Given the description of an element on the screen output the (x, y) to click on. 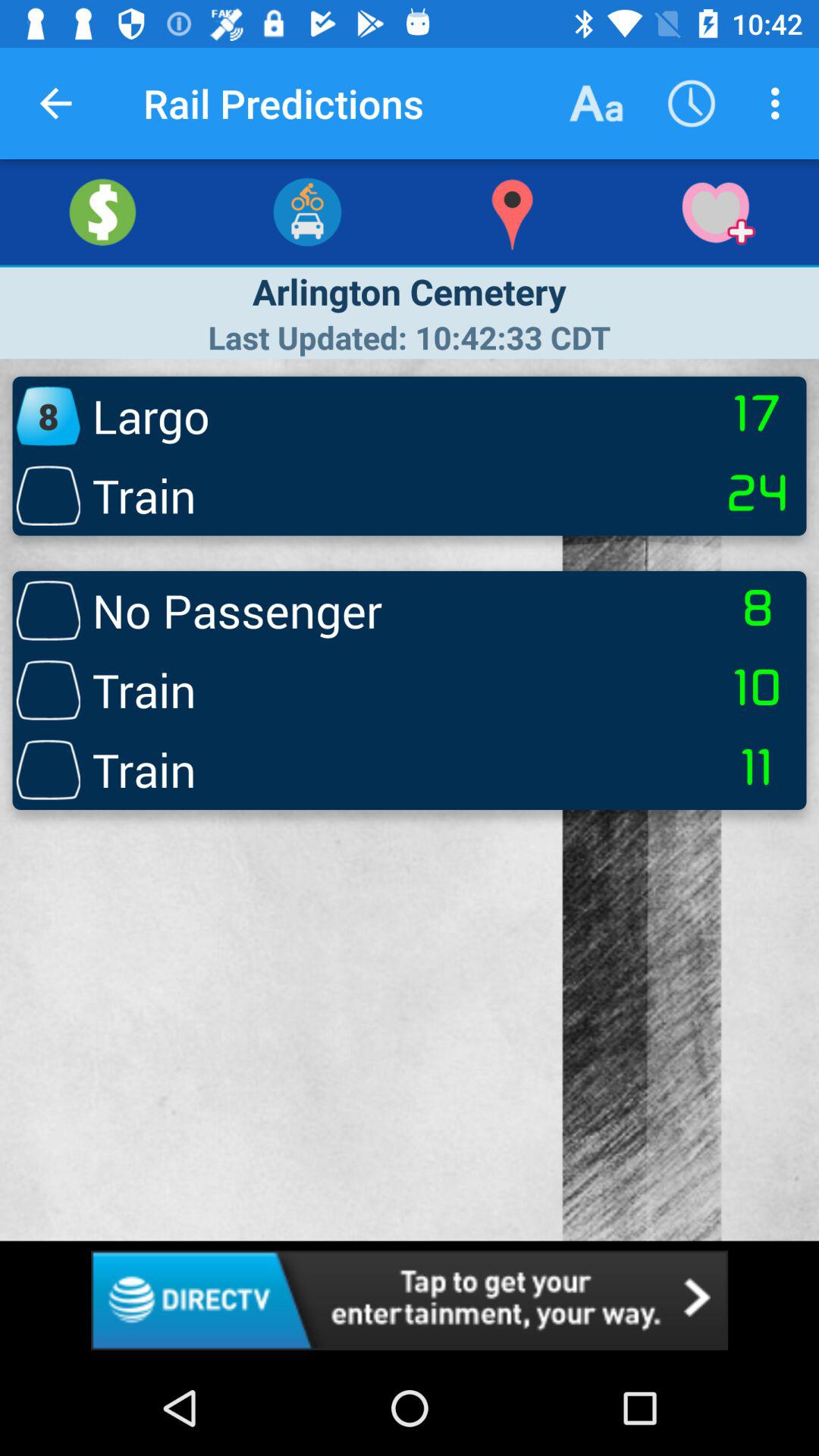
select the advertisement (409, 1300)
